Given the description of an element on the screen output the (x, y) to click on. 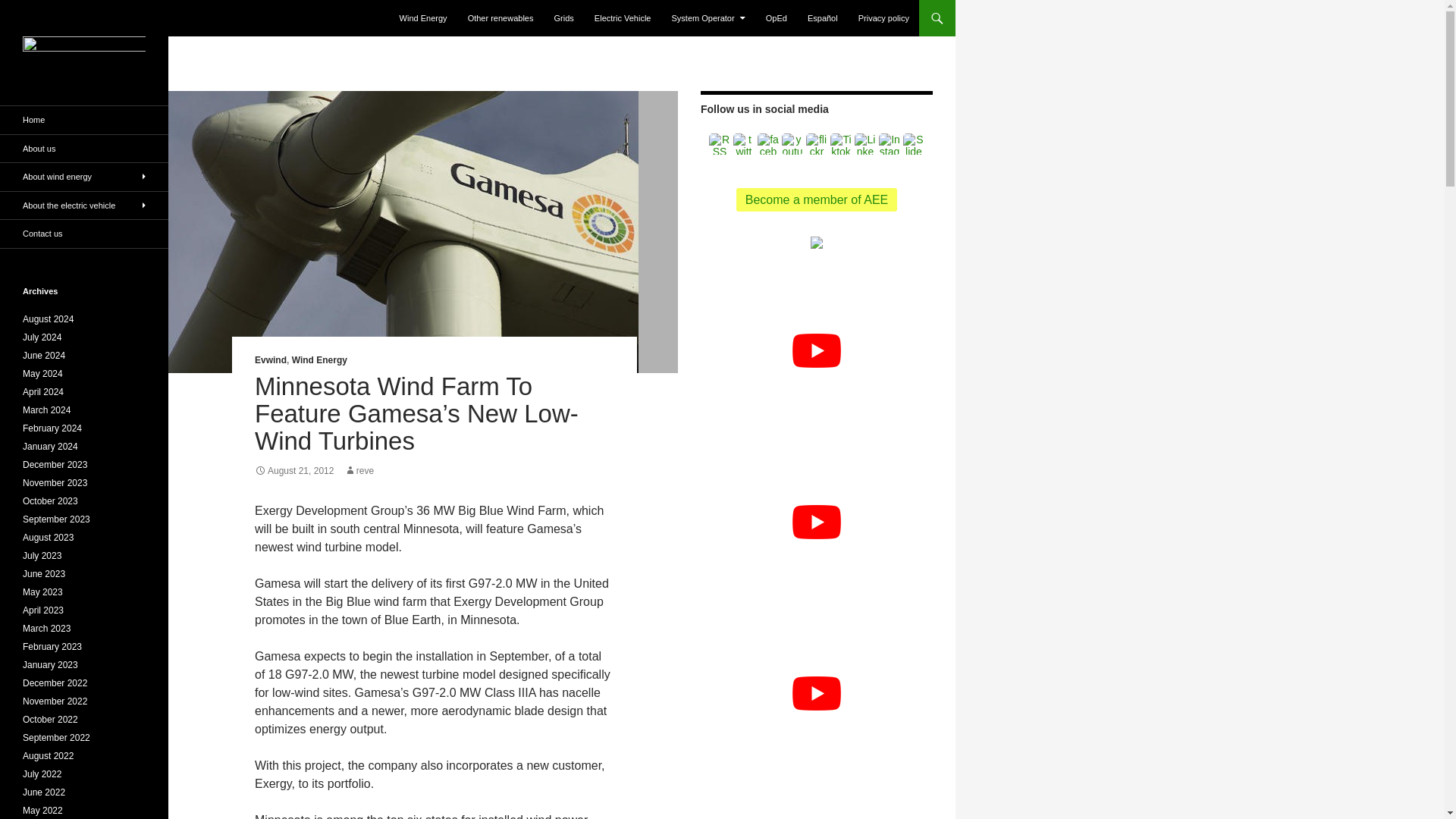
Electric Vehicle (623, 18)
LinkedIn (865, 143)
Instagram (889, 143)
facebook (767, 143)
twitter (743, 143)
Become a member of AEE (817, 199)
Slideshare (913, 143)
flickr (816, 143)
Grids (563, 18)
reve (358, 470)
